Given the description of an element on the screen output the (x, y) to click on. 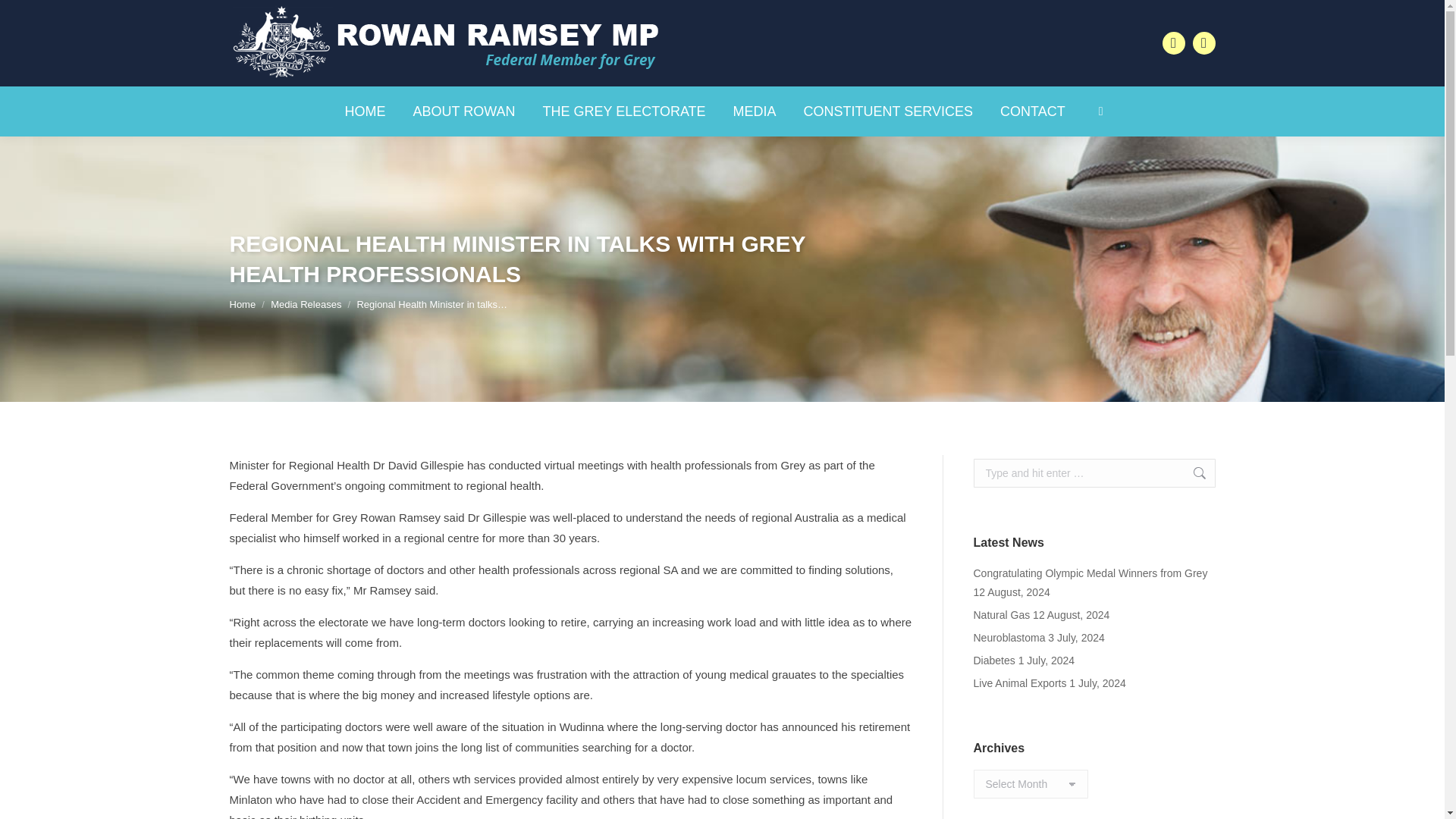
CONTACT (1032, 110)
Go! (24, 16)
Facebook page opens in new window (1173, 42)
ABOUT ROWAN (463, 110)
MEDIA (754, 110)
Go! (1191, 472)
Home (242, 304)
X page opens in new window (1203, 42)
HOME (364, 110)
X page opens in new window (1203, 42)
